Given the description of an element on the screen output the (x, y) to click on. 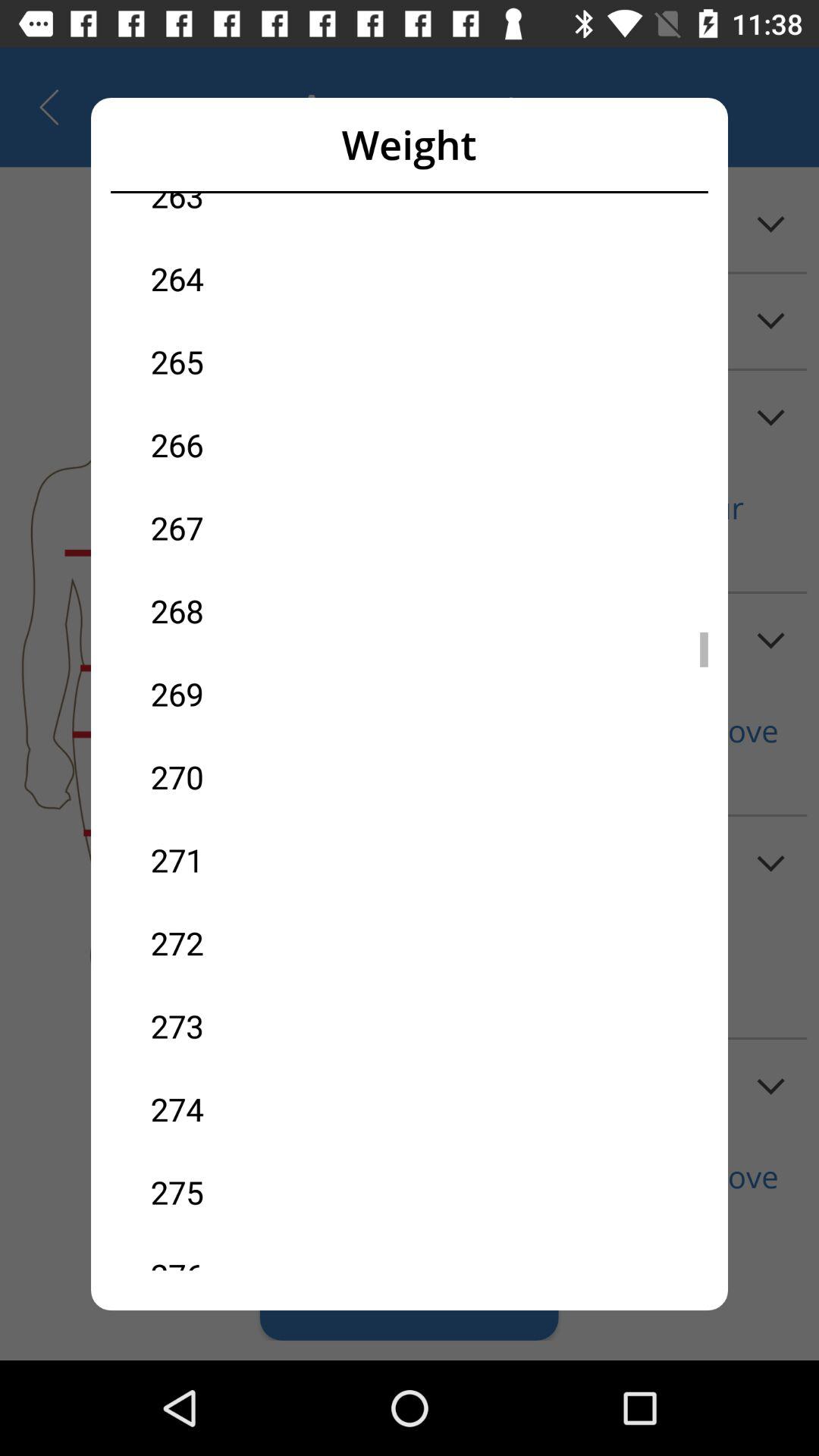
scroll until 264 item (279, 278)
